Given the description of an element on the screen output the (x, y) to click on. 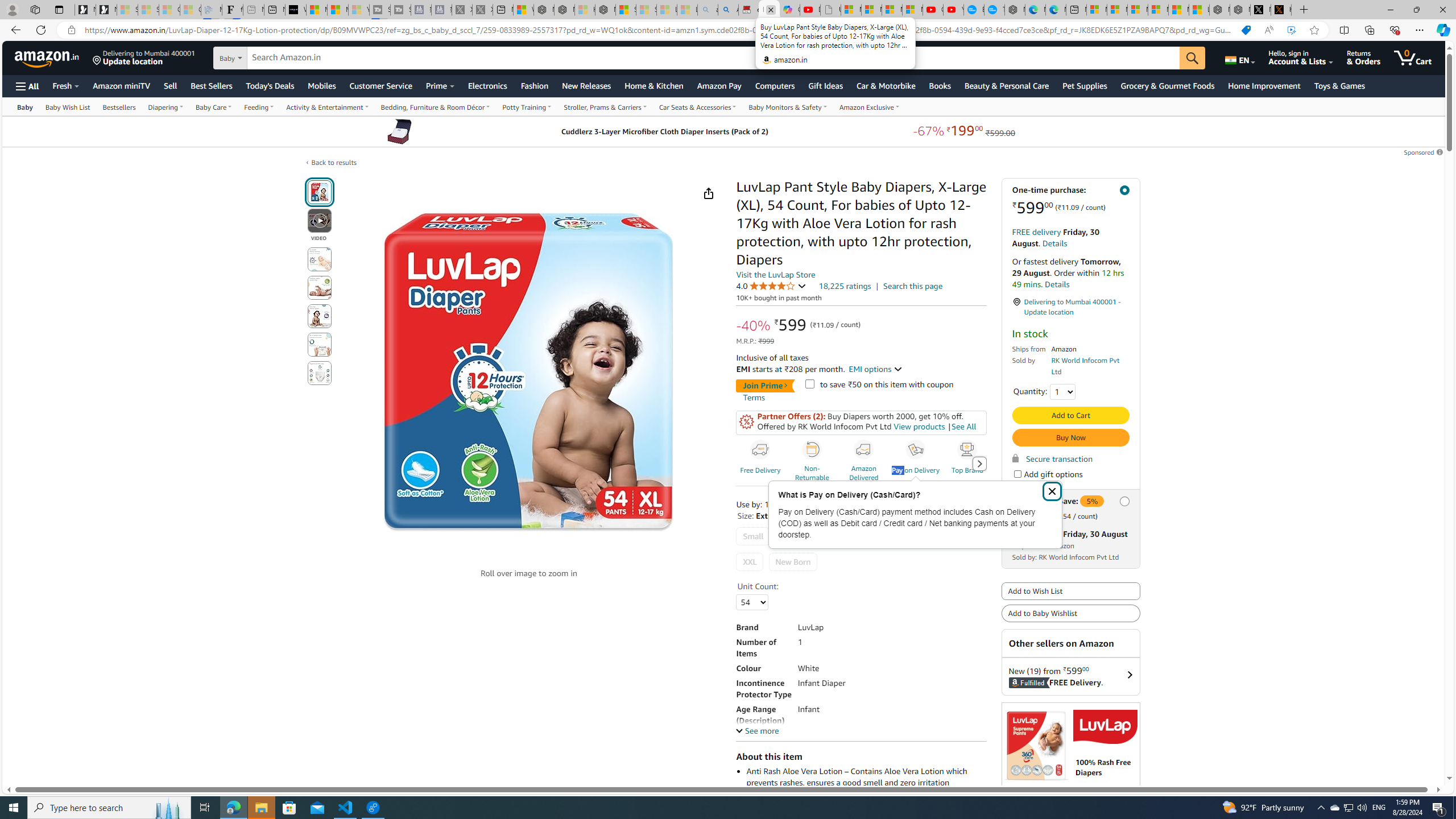
Streaming Coverage | T3 - Sleeping (379, 9)
amazon - Search - Sleeping (707, 9)
Untitled (830, 9)
Gloom - YouTube (932, 9)
YouTube Kids - An App Created for Kids to Explore Content (953, 9)
